Given the description of an element on the screen output the (x, y) to click on. 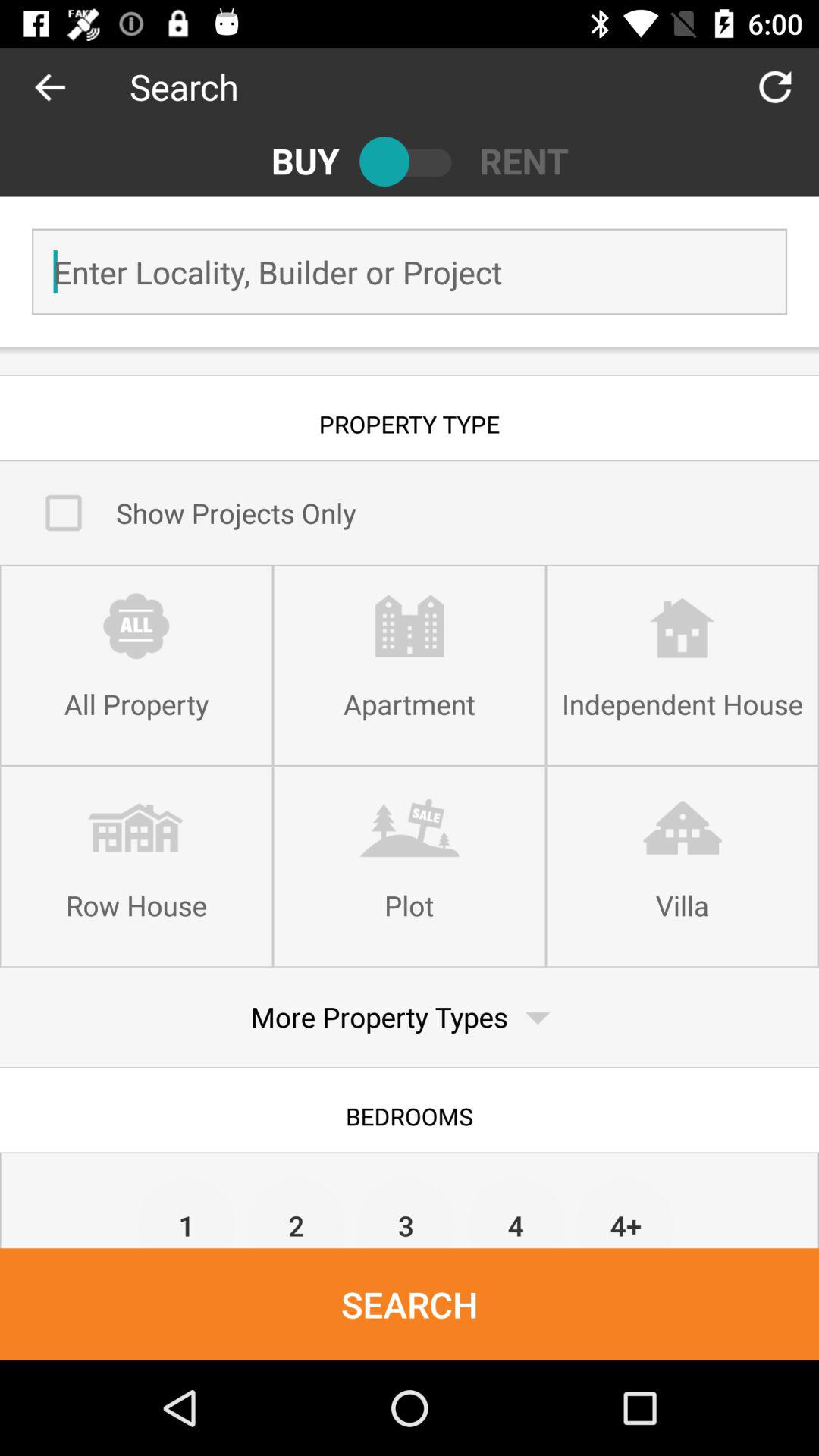
turn on item to the left of 2 (186, 1212)
